Given the description of an element on the screen output the (x, y) to click on. 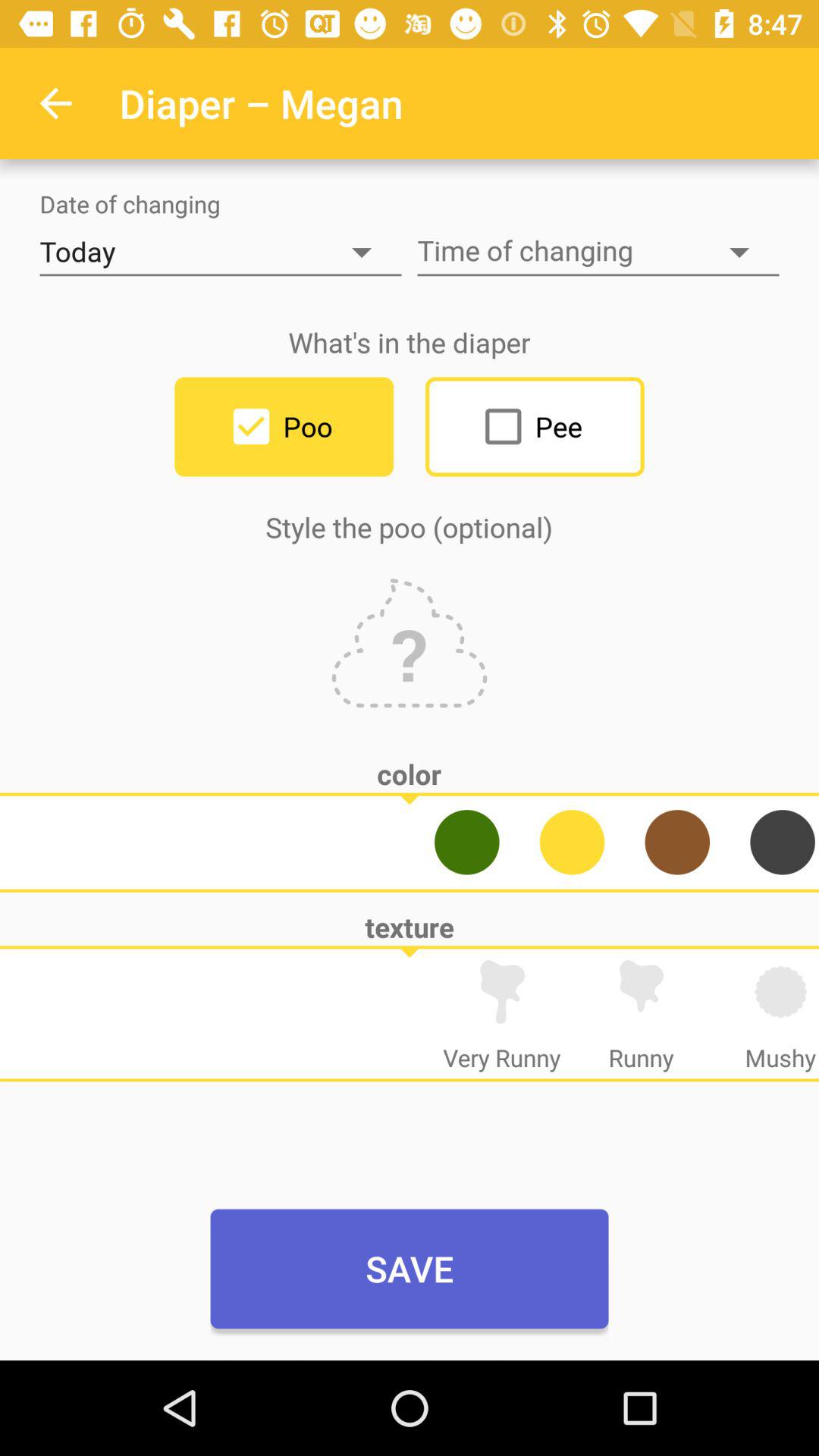
change to brown color (677, 842)
